Given the description of an element on the screen output the (x, y) to click on. 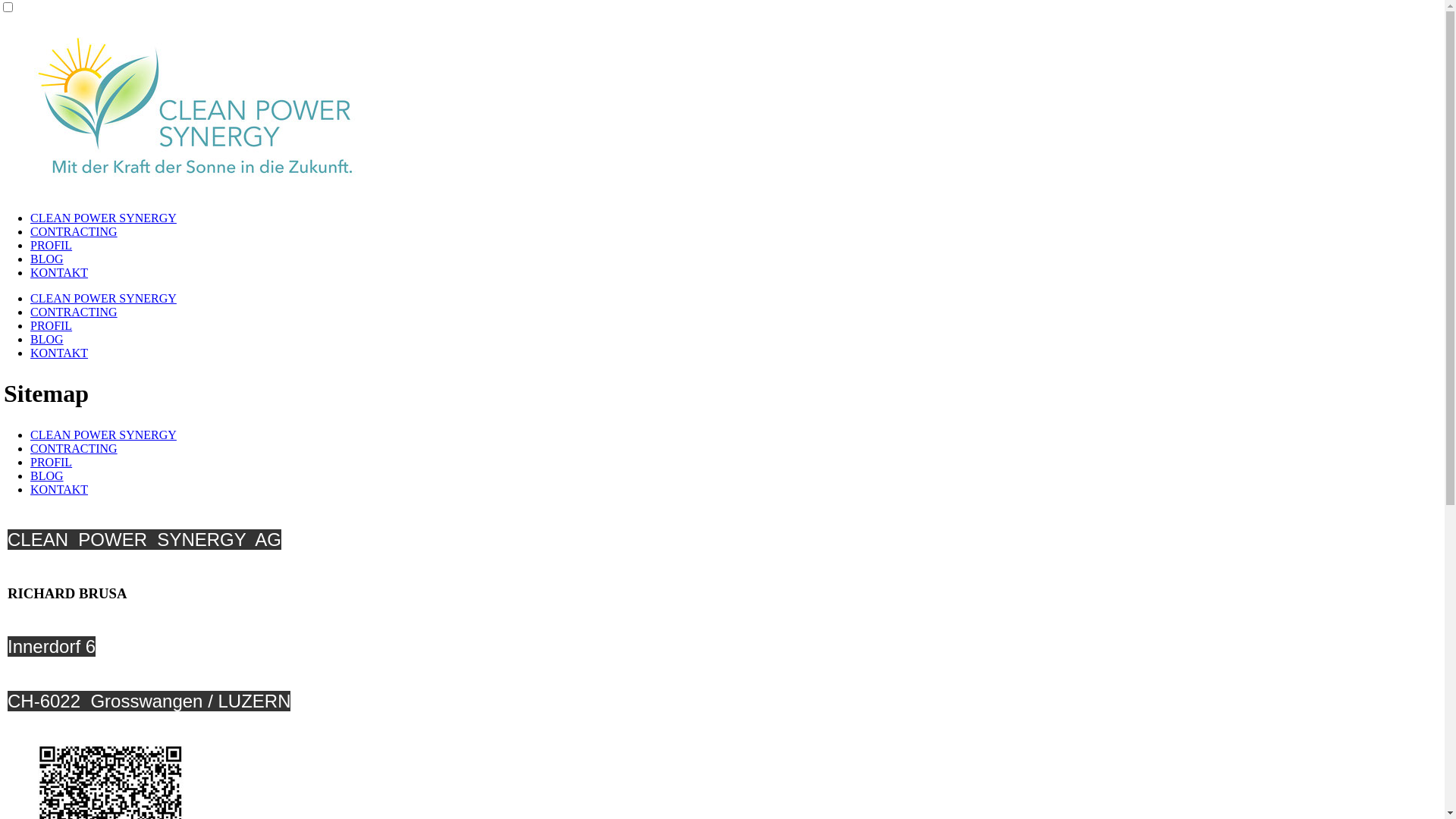
CLEAN POWER SYNERGY Element type: text (103, 434)
KONTAKT Element type: text (58, 272)
CONTRACTING Element type: text (73, 448)
PROFIL Element type: text (51, 244)
BLOG Element type: text (46, 338)
CONTRACTING Element type: text (73, 311)
BLOG Element type: text (46, 258)
CLEAN POWER SYNERGY Element type: text (103, 297)
KONTAKT Element type: text (58, 489)
CLEAN POWER SYNERGY Element type: text (103, 217)
CONTRACTING Element type: text (73, 231)
KONTAKT Element type: text (58, 352)
BLOG Element type: text (46, 475)
PROFIL Element type: text (51, 461)
PROFIL Element type: text (51, 325)
